Given the description of an element on the screen output the (x, y) to click on. 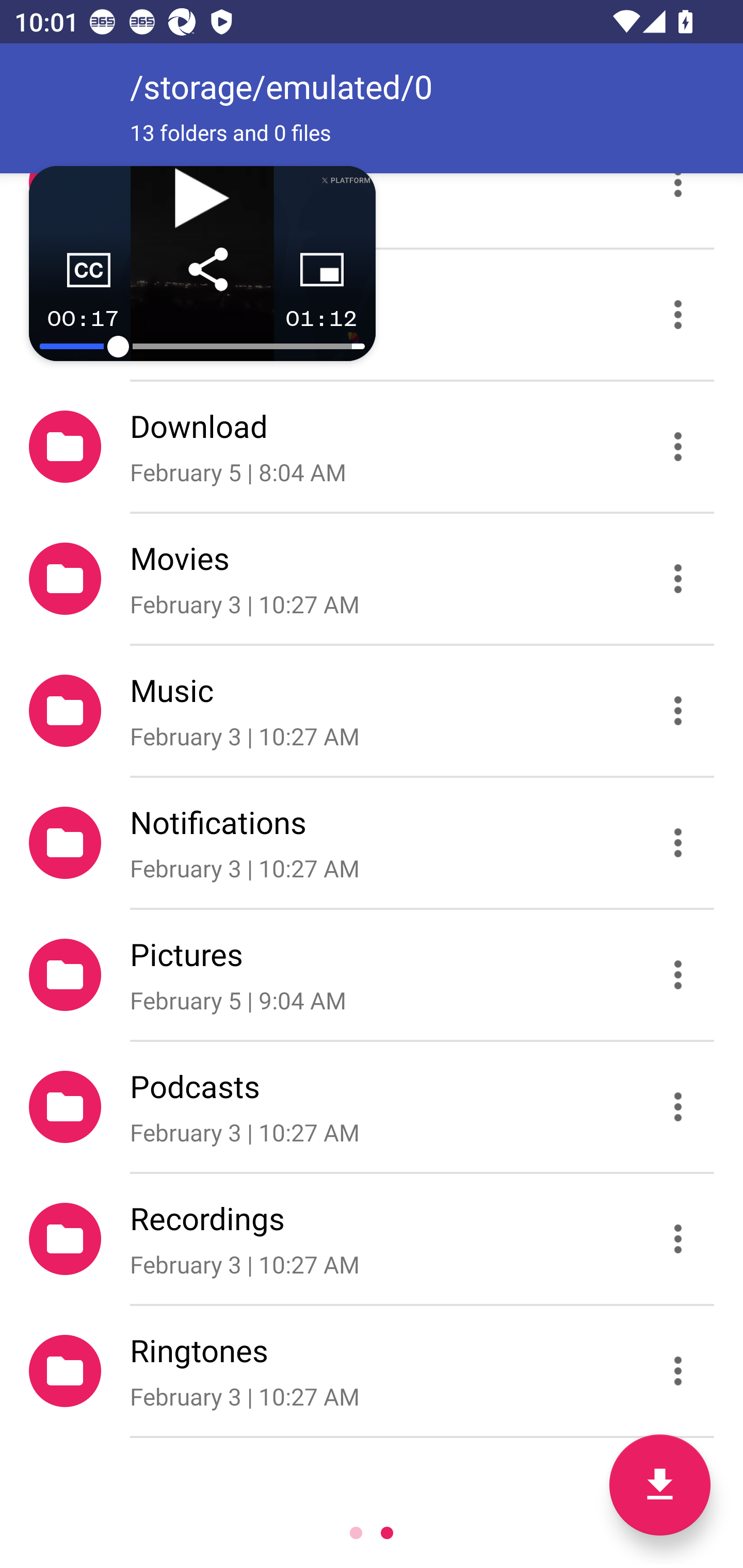
Download February 5 | 8:04 AM (371, 446)
Movies February 3 | 10:27 AM (371, 579)
Music February 3 | 10:27 AM (371, 711)
Notifications February 3 | 10:27 AM (371, 842)
Pictures February 5 | 9:04 AM (371, 974)
Podcasts February 3 | 10:27 AM (371, 1106)
Recordings February 3 | 10:27 AM (371, 1239)
Ringtones February 3 | 10:27 AM (371, 1371)
